Given the description of an element on the screen output the (x, y) to click on. 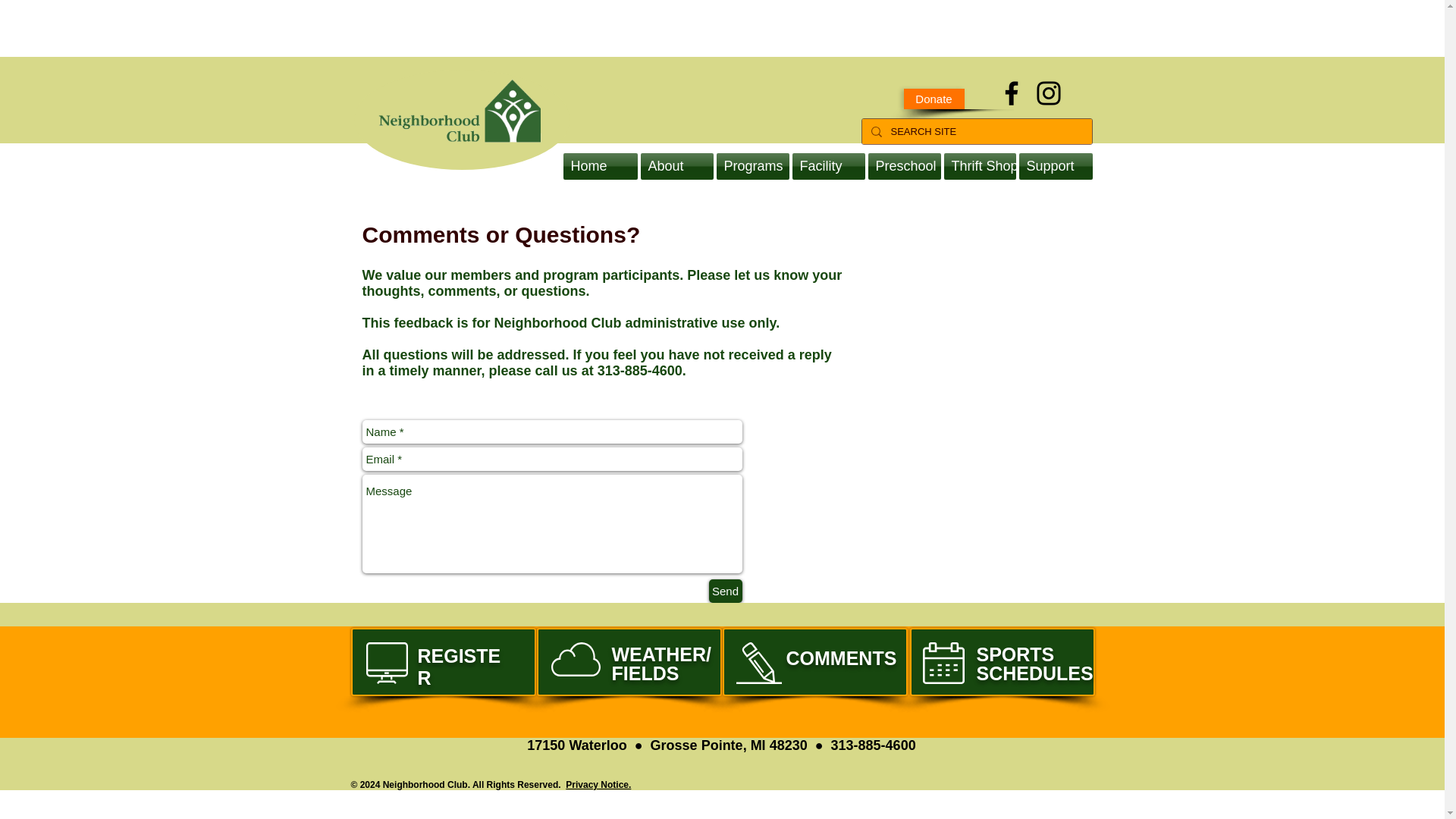
Comments (814, 662)
Home (600, 166)
Donate (442, 662)
Sports Schedule (1002, 662)
